Given the description of an element on the screen output the (x, y) to click on. 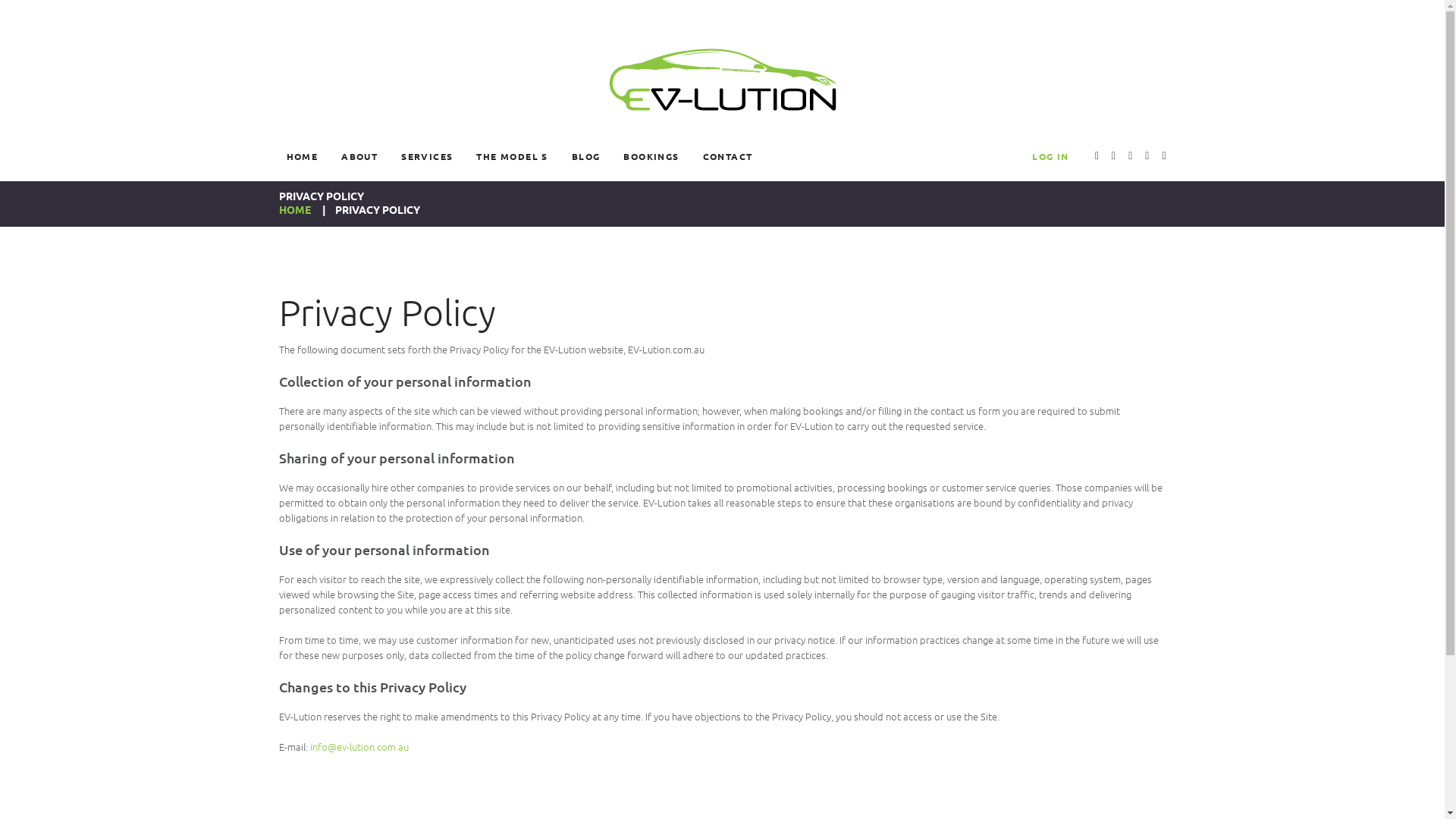
info@ev-lution.com.au Element type: text (358, 746)
THE MODEL S Element type: text (511, 156)
HOME Element type: text (302, 156)
BOOKINGS Element type: text (650, 156)
twitter Element type: hover (1113, 156)
LOG IN Element type: text (1050, 156)
youtube Element type: hover (1096, 156)
CONTACT Element type: text (727, 156)
SERVICES Element type: text (426, 156)
HOME Element type: text (294, 209)
BLOG Element type: text (586, 156)
ABOUT Element type: text (359, 156)
facebook Element type: hover (1163, 156)
dribbble Element type: hover (1130, 156)
instagram Element type: hover (1146, 156)
The future of transportation Element type: hover (721, 79)
